Given the description of an element on the screen output the (x, y) to click on. 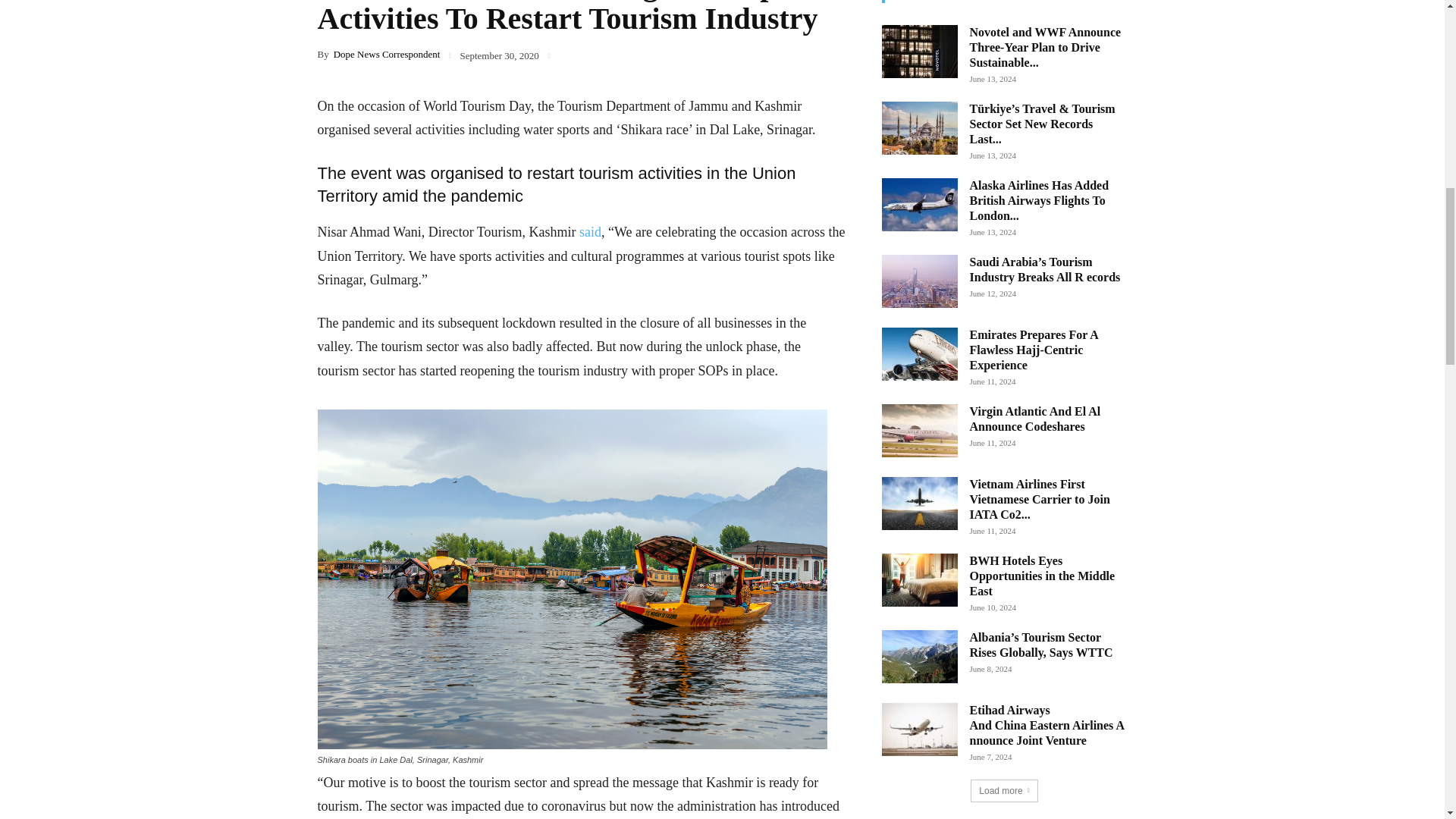
Dope News Correspondent (387, 53)
said (590, 231)
